Given the description of an element on the screen output the (x, y) to click on. 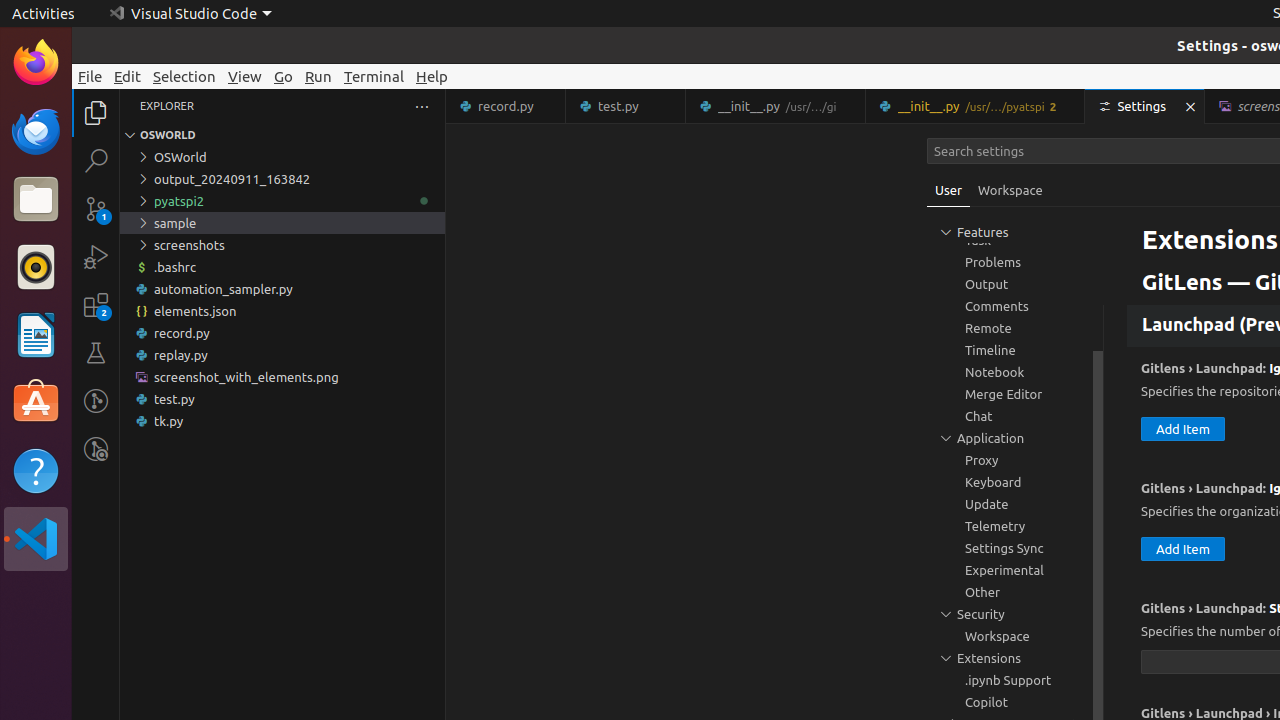
Explorer (Ctrl+Shift+E) Element type: page-tab (96, 113)
Proxy, group Element type: tree-item (1015, 460)
